Given the description of an element on the screen output the (x, y) to click on. 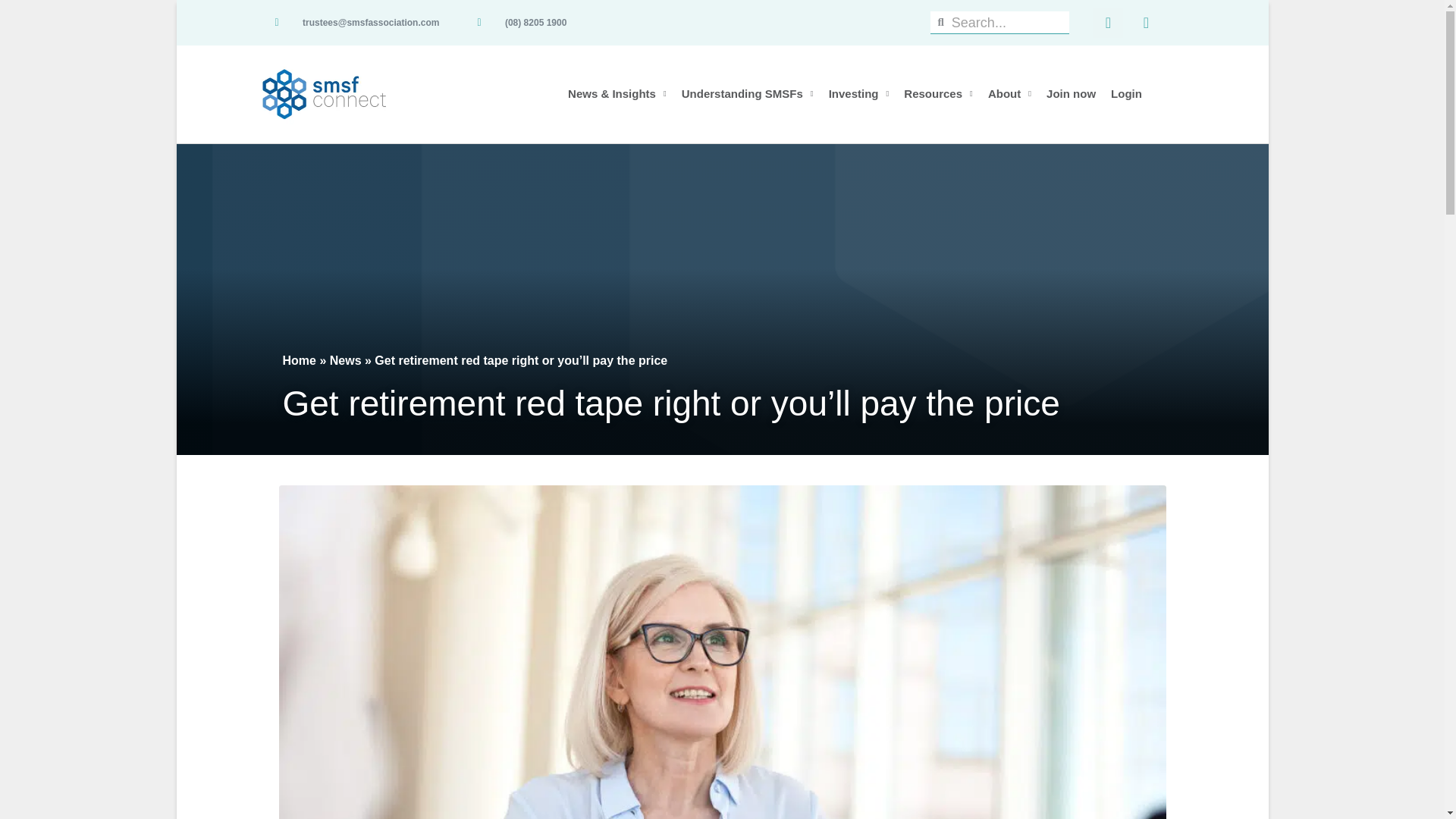
About (1009, 93)
Understanding SMSFs (747, 93)
Investing (858, 93)
Resources (937, 93)
